Given the description of an element on the screen output the (x, y) to click on. 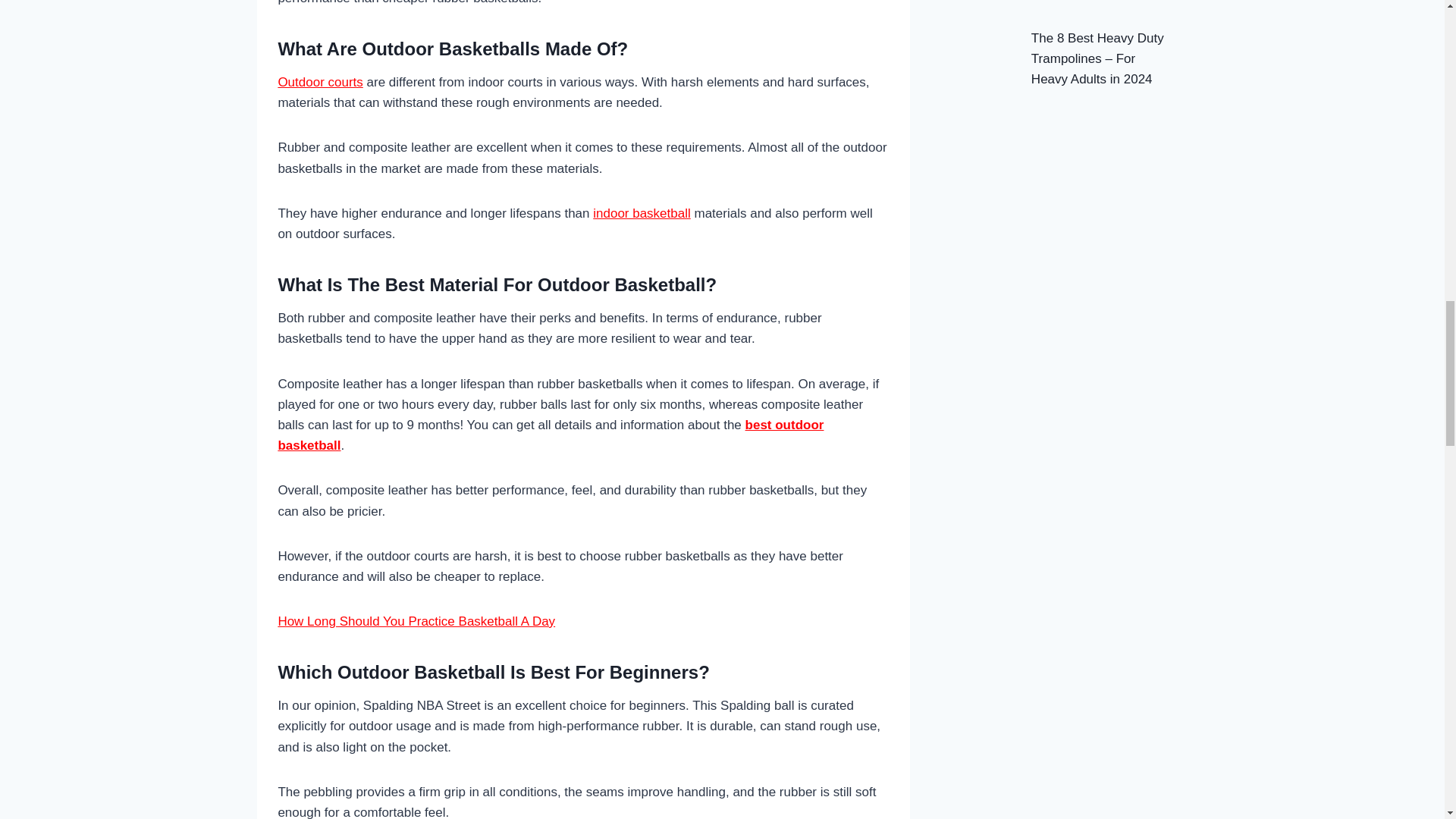
Outdoor courts (320, 82)
indoor basketball (641, 213)
best outdoor basketball (551, 434)
How Long Should You Practice Basketball A Day (416, 621)
